Given the description of an element on the screen output the (x, y) to click on. 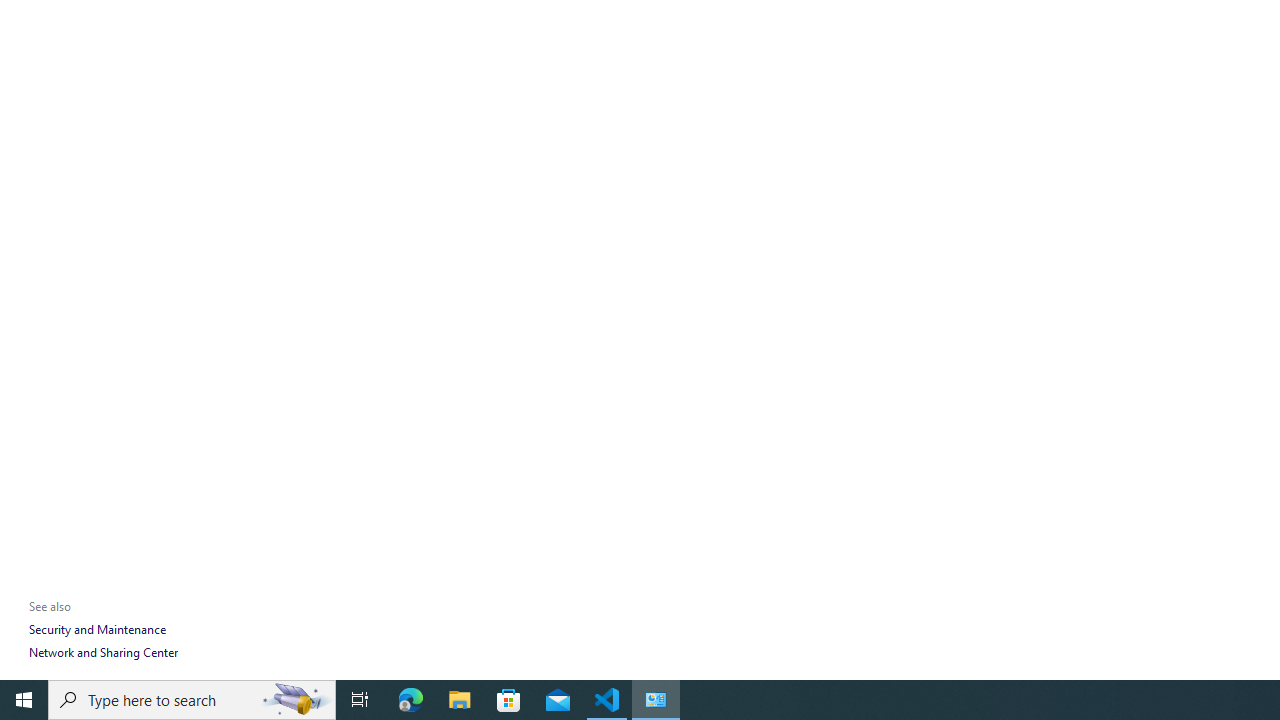
Network and Sharing Center (103, 652)
Security and Maintenance (96, 629)
Control Panel - 1 running window (656, 699)
